Given the description of an element on the screen output the (x, y) to click on. 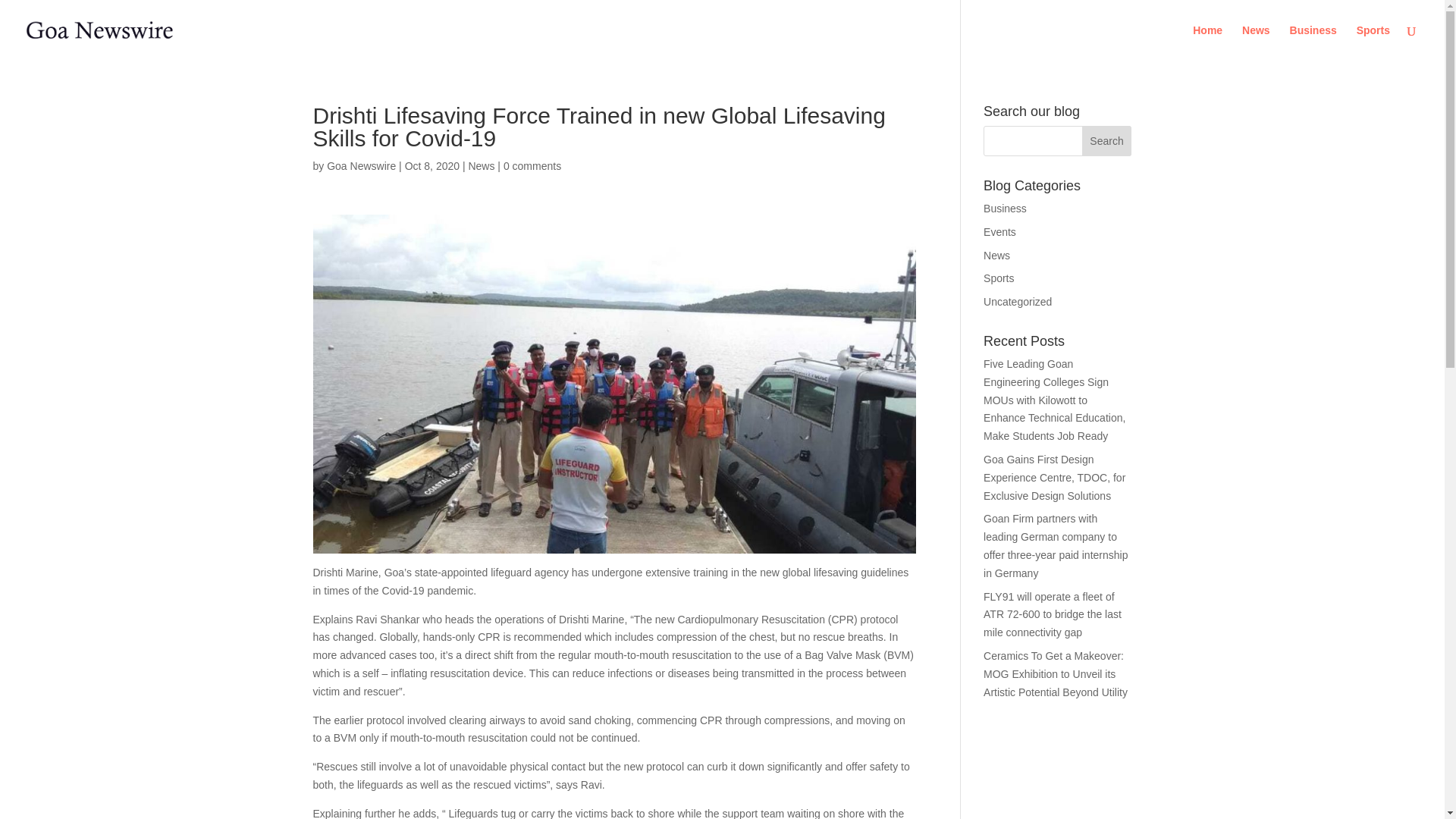
Business (1005, 208)
News (997, 255)
Sports (1373, 42)
Uncategorized (1017, 301)
Posts by Goa Newswire (361, 165)
Business (1313, 42)
Goa Newswire (361, 165)
Sports (998, 277)
Search (1106, 141)
News (481, 165)
